Given the description of an element on the screen output the (x, y) to click on. 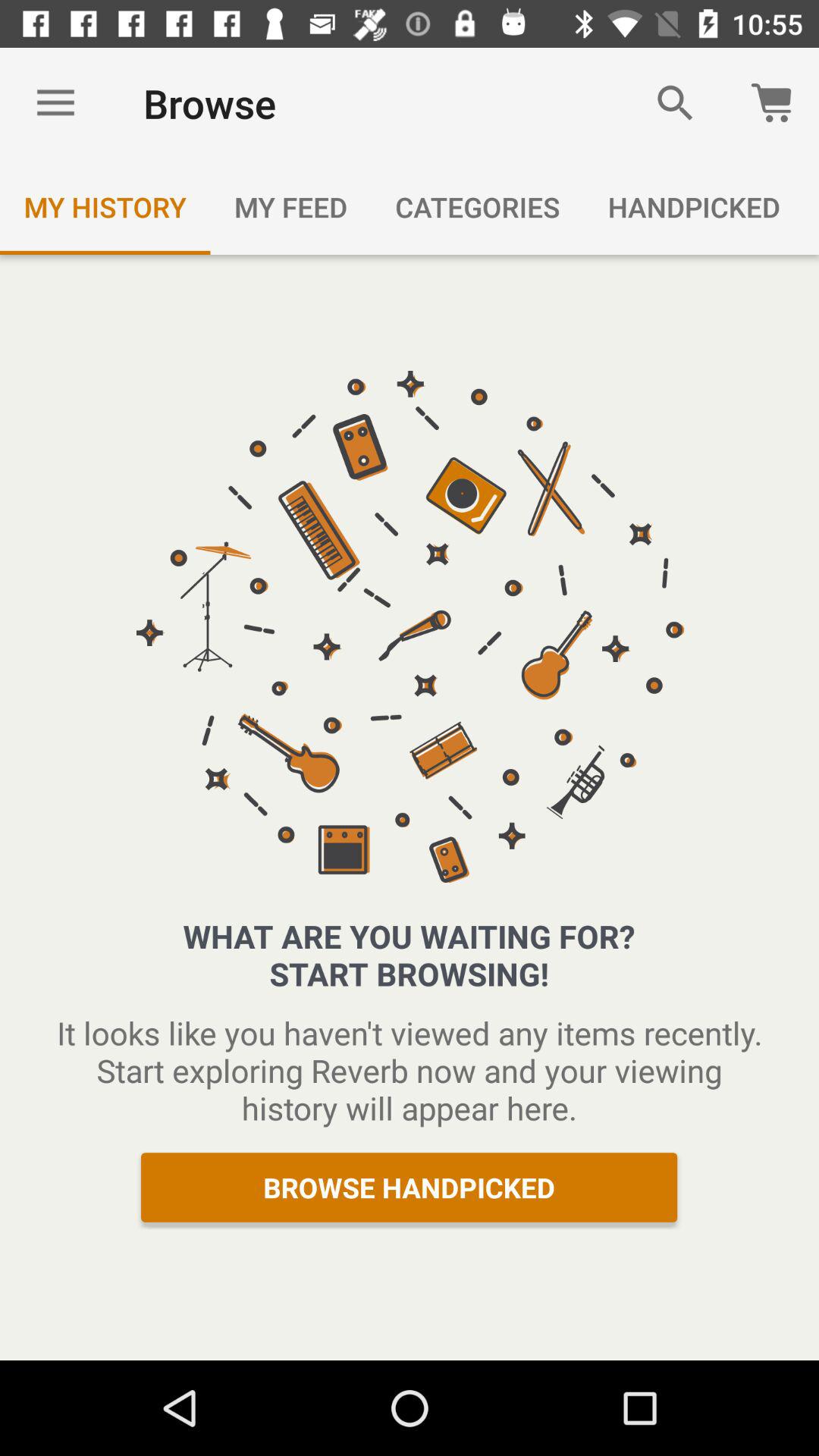
turn off the item above my history (55, 103)
